Given the description of an element on the screen output the (x, y) to click on. 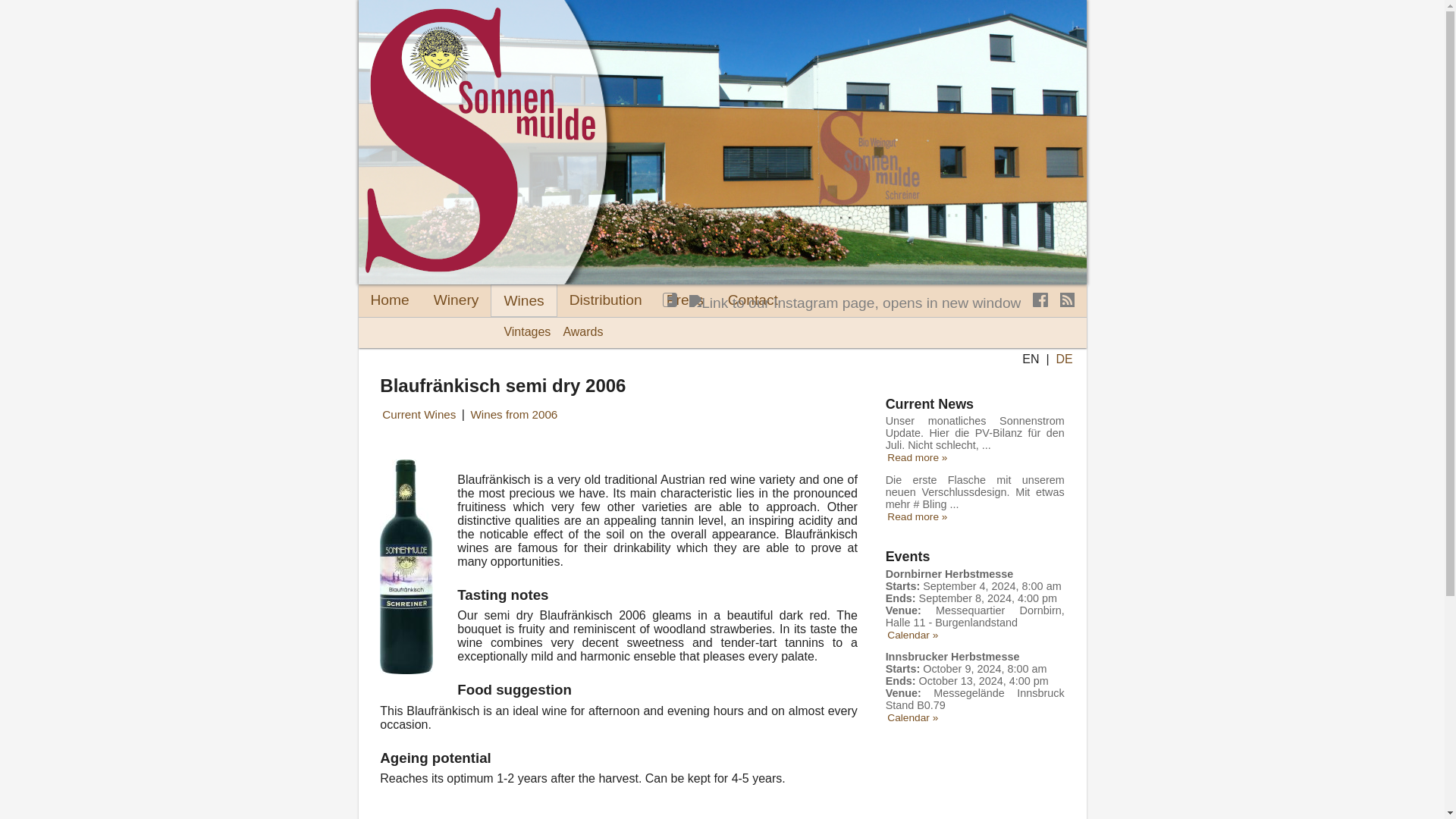
Wines from 2006 (513, 413)
Wines (523, 300)
Current Wines (418, 413)
Distribution (605, 299)
Friendica (669, 302)
Home (389, 299)
Awards (582, 332)
Vintages (526, 332)
Press (684, 299)
Winery (456, 299)
